Given the description of an element on the screen output the (x, y) to click on. 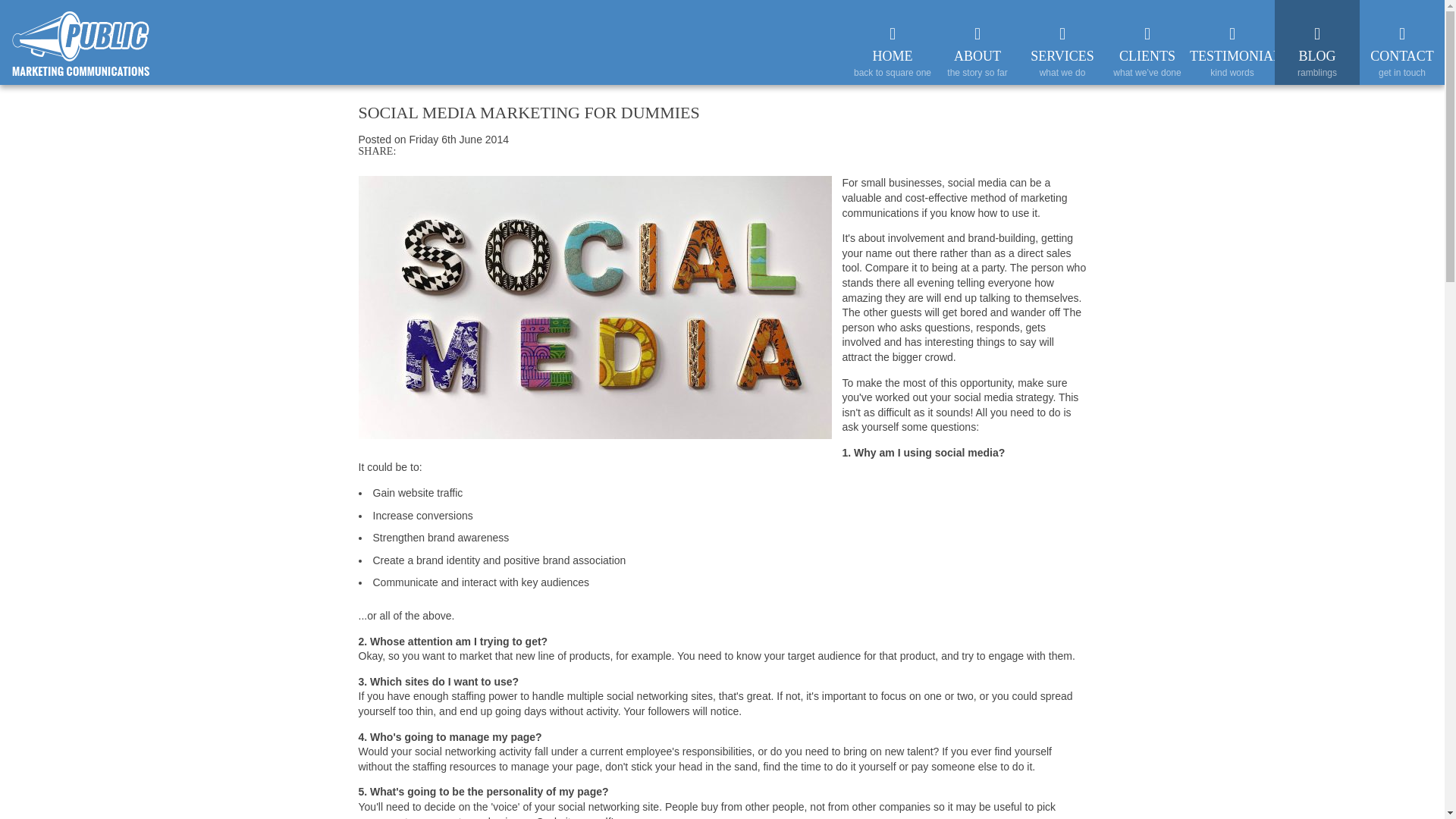
Skip to content (1182, 6)
Skip to content (1182, 6)
